Given the description of an element on the screen output the (x, y) to click on. 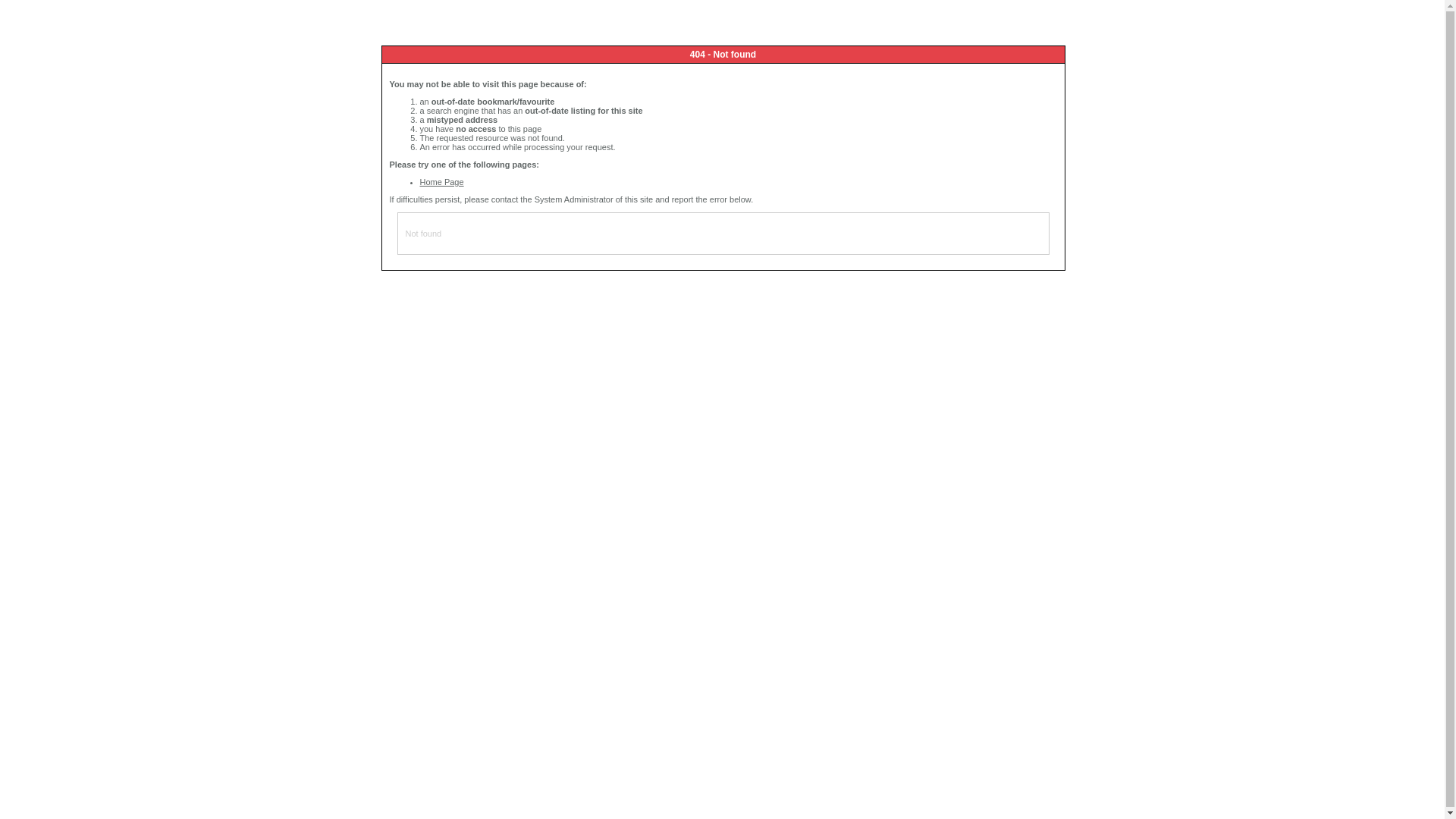
Home Page Element type: text (442, 181)
